Given the description of an element on the screen output the (x, y) to click on. 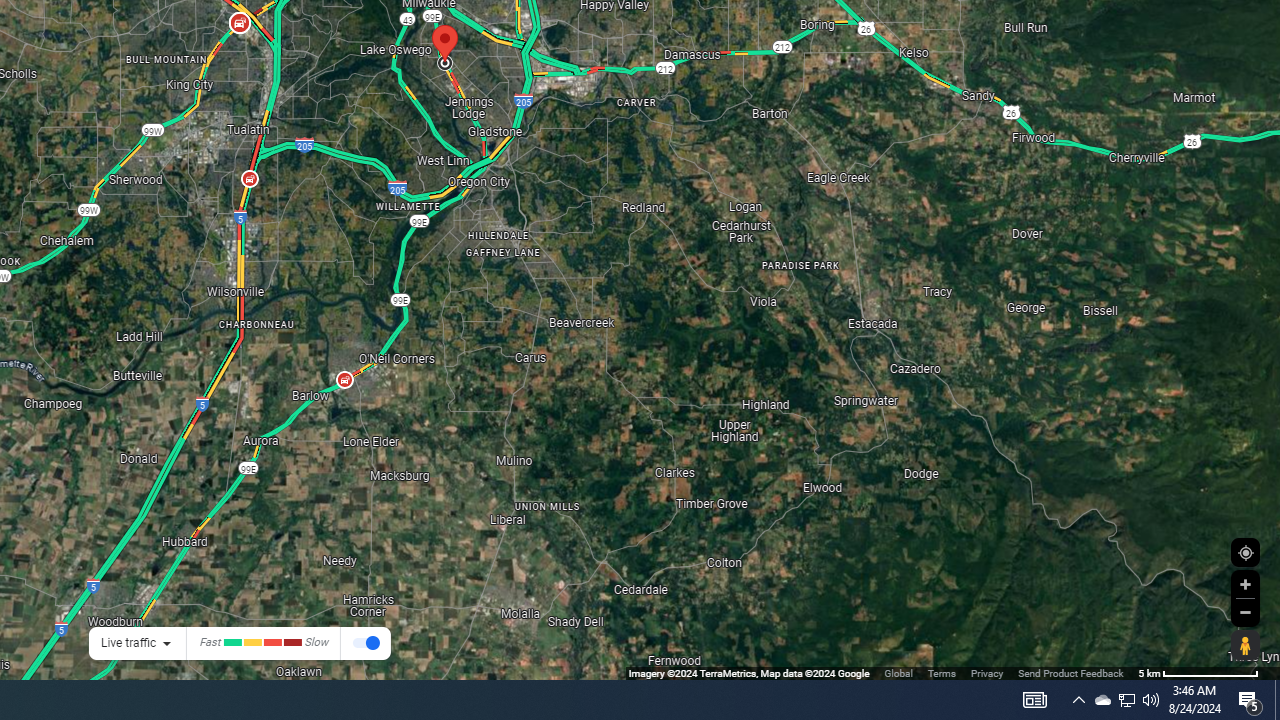
500 m (1198, 672)
Show Your Location (1245, 552)
Live traffic (128, 642)
Send Product Feedback (1070, 672)
Show Street View coverage (1245, 645)
Zoom in (1245, 584)
Zoom out (1245, 612)
Global (898, 672)
 Show traffic  (366, 643)
